Given the description of an element on the screen output the (x, y) to click on. 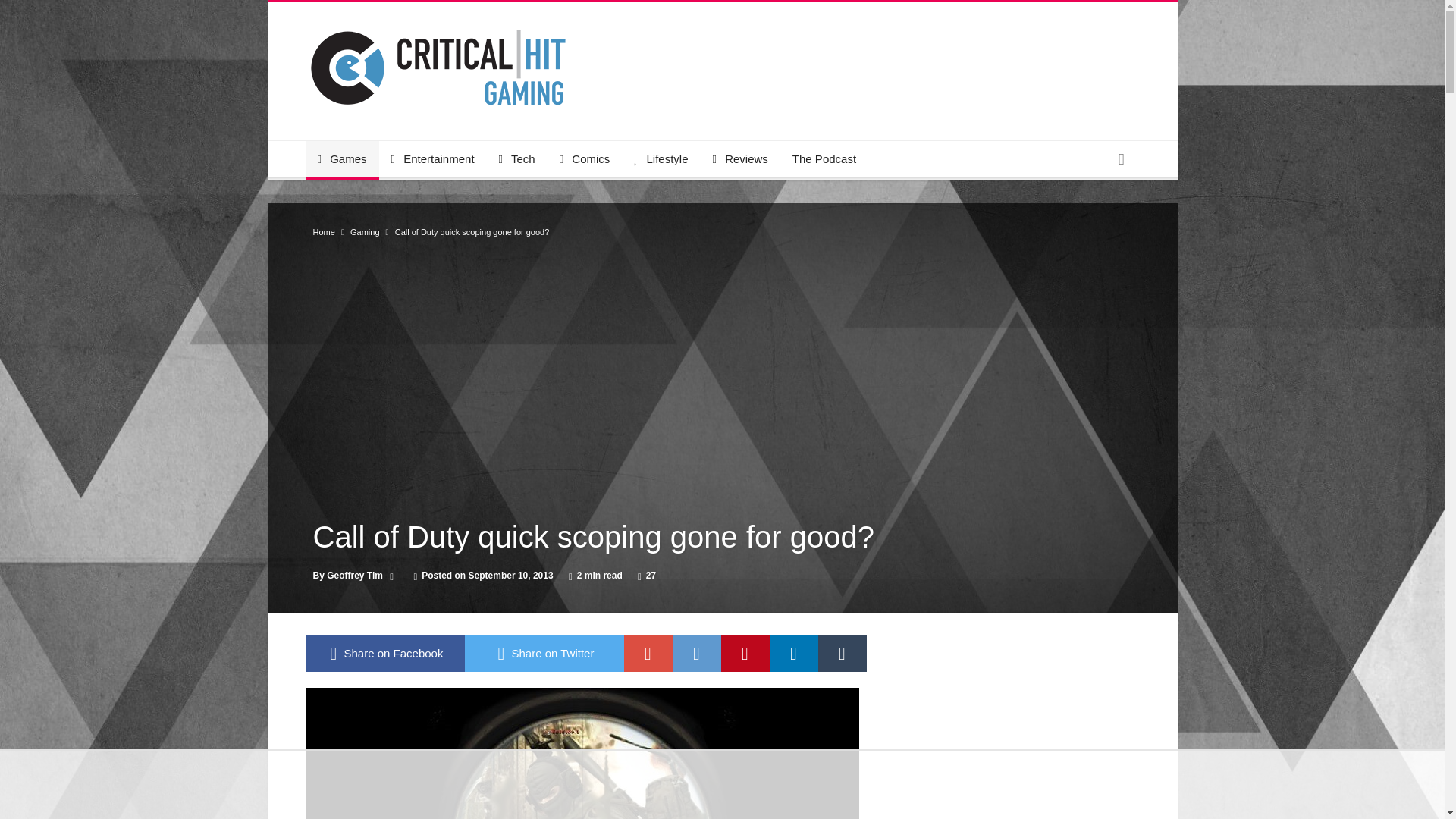
Gaming (365, 231)
twitter (543, 653)
Entertainment (432, 158)
Share on Linkedin (792, 653)
Share on Tumblr (841, 653)
Share on Reddit (695, 653)
Reviews (740, 158)
facebook (384, 653)
linkedin (792, 653)
Lifestyle (660, 158)
